Given the description of an element on the screen output the (x, y) to click on. 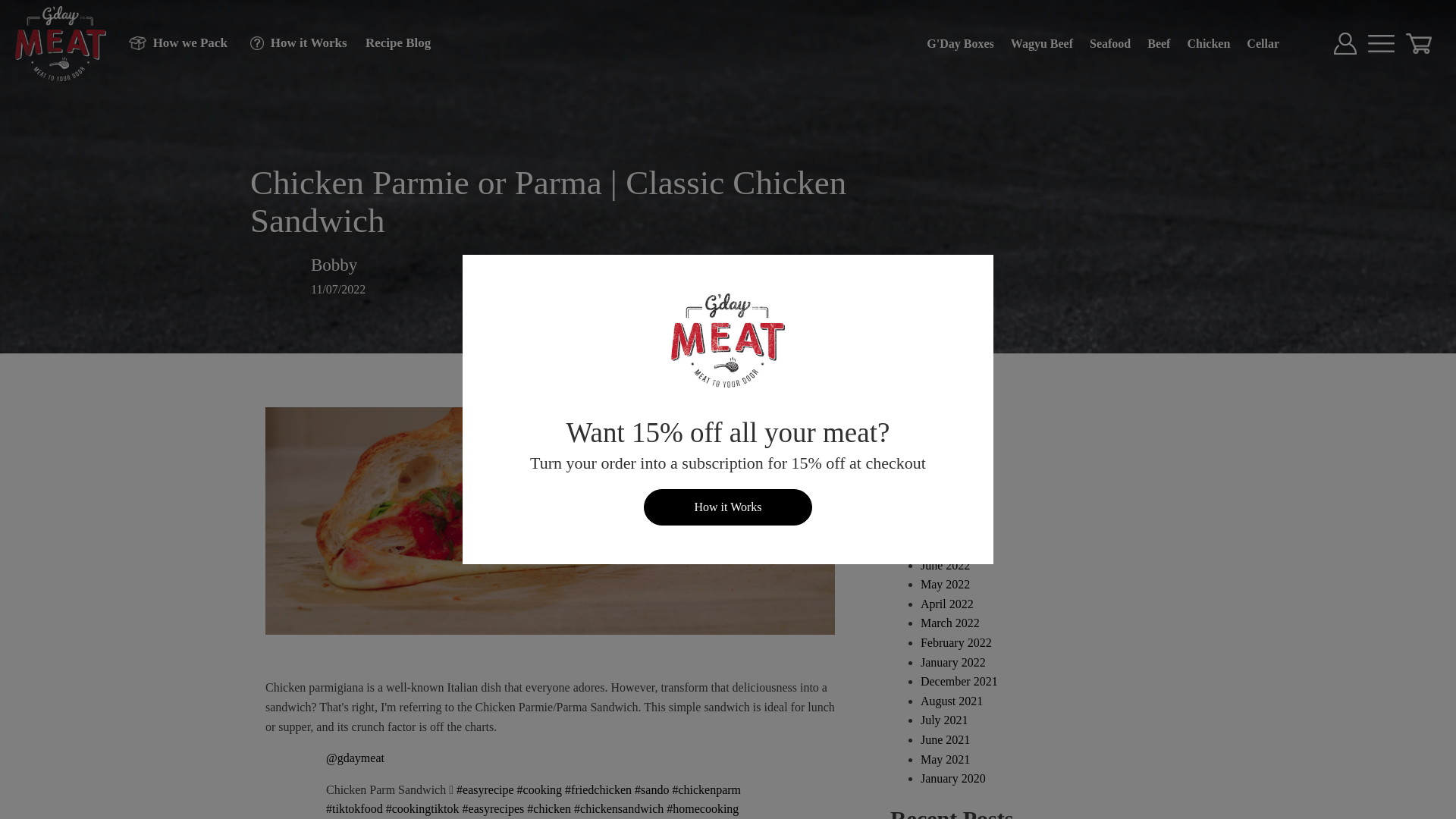
How it Works  (292, 43)
easyrecipes (493, 808)
Recipe Blog (390, 43)
sando (651, 789)
easyrecipe (485, 789)
chickensandwich (618, 808)
cookingtiktok (422, 808)
G'Day Boxes (959, 43)
Cellar (1263, 43)
chicken (548, 808)
